Given the description of an element on the screen output the (x, y) to click on. 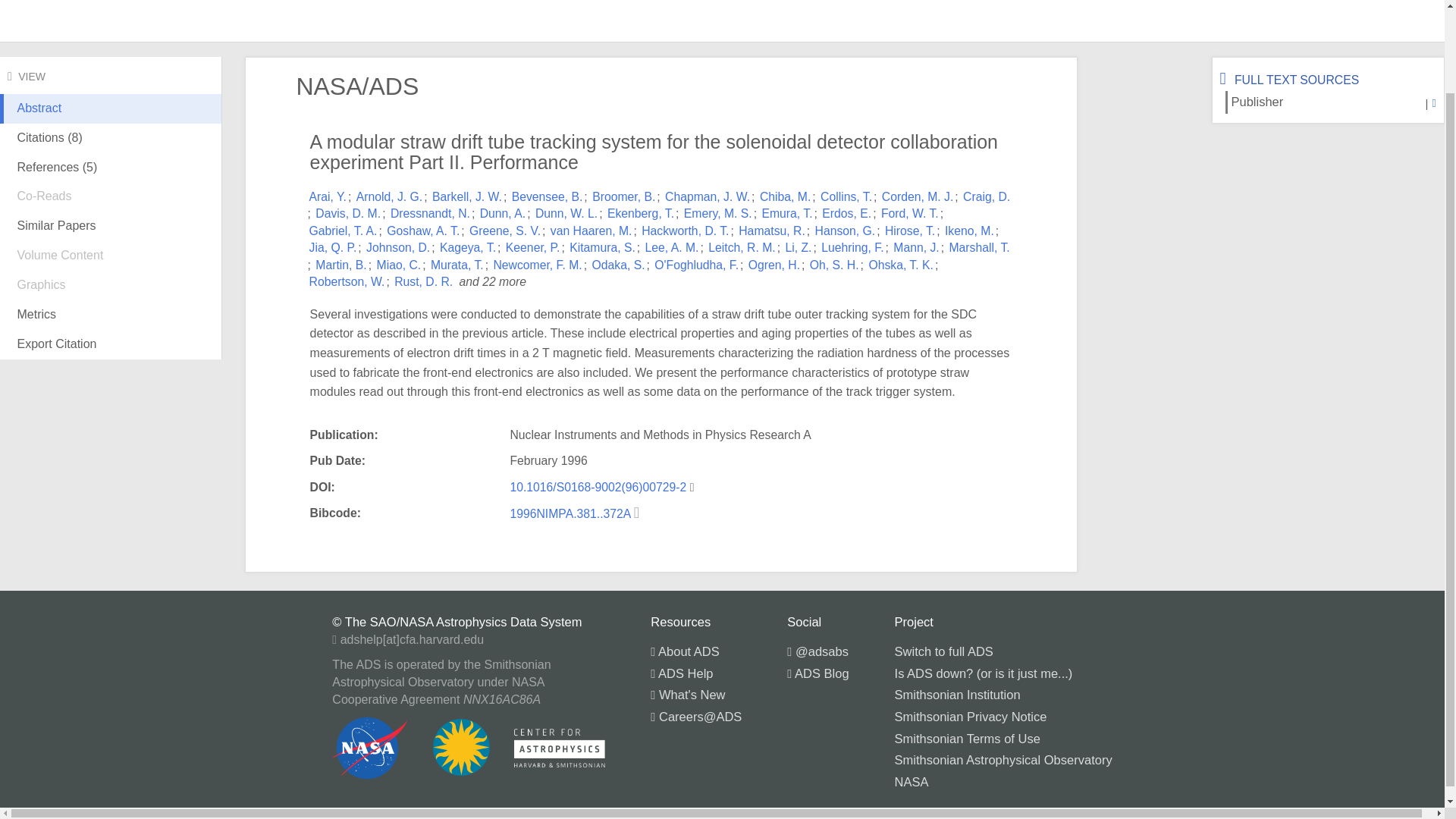
Hanson, G. (845, 230)
Emery, M. S. (718, 213)
Craig, D. (986, 196)
Corden, M. J. (917, 196)
Ford, W. T. (909, 213)
Dressnandt, N. (430, 213)
Goshaw, A. T. (423, 230)
Ekenberg, T. (640, 213)
Emura, T. (786, 213)
Arai, Y. (327, 196)
Jia, Q. P. (332, 246)
Chiba, M. (785, 196)
Abstract (110, 120)
Hamatsu, R. (771, 230)
Johnson, D. (397, 246)
